Given the description of an element on the screen output the (x, y) to click on. 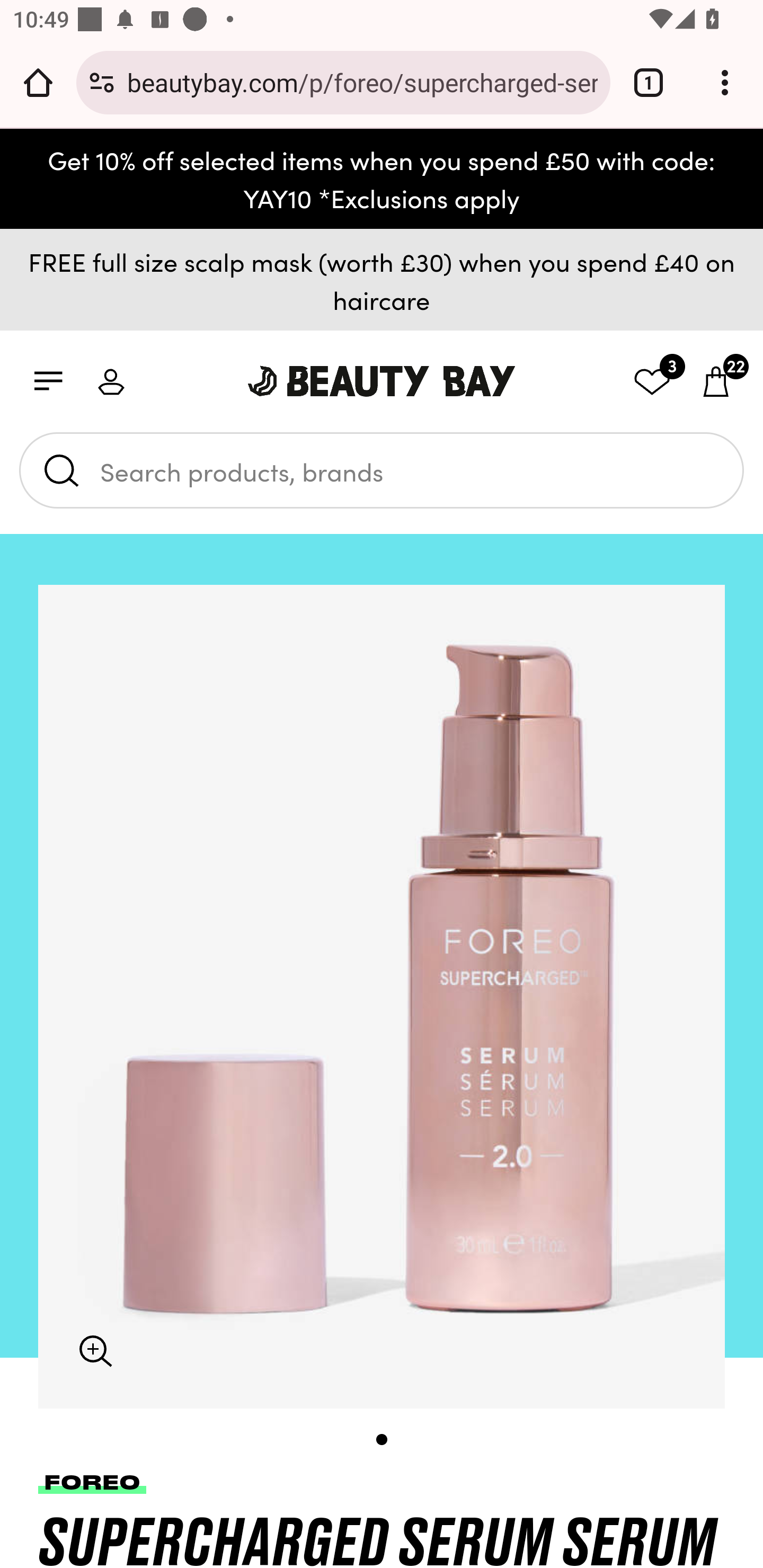
Open the home page (38, 82)
Connection is secure (101, 82)
Switch or close tabs (648, 82)
Customize and control Google Chrome (724, 82)
Account (119, 380)
3 (643, 380)
22 (707, 380)
FOREO (92, 1482)
